Given the description of an element on the screen output the (x, y) to click on. 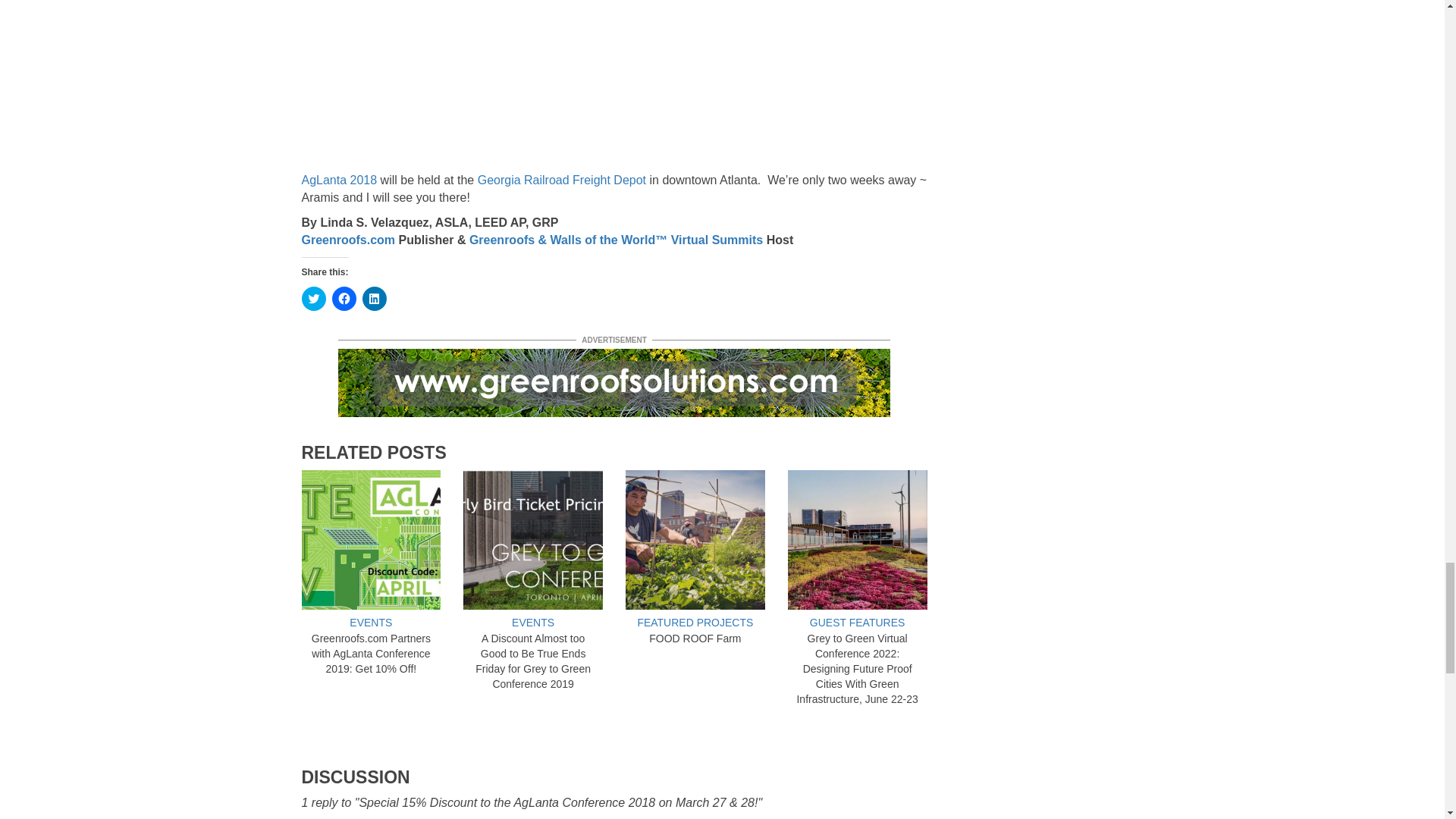
Click to share on Twitter (313, 298)
FOOD ROOF Farm (695, 638)
Click to share on Facebook (343, 298)
FOOD ROOF Farm (695, 539)
Click to share on LinkedIn (374, 298)
